Given the description of an element on the screen output the (x, y) to click on. 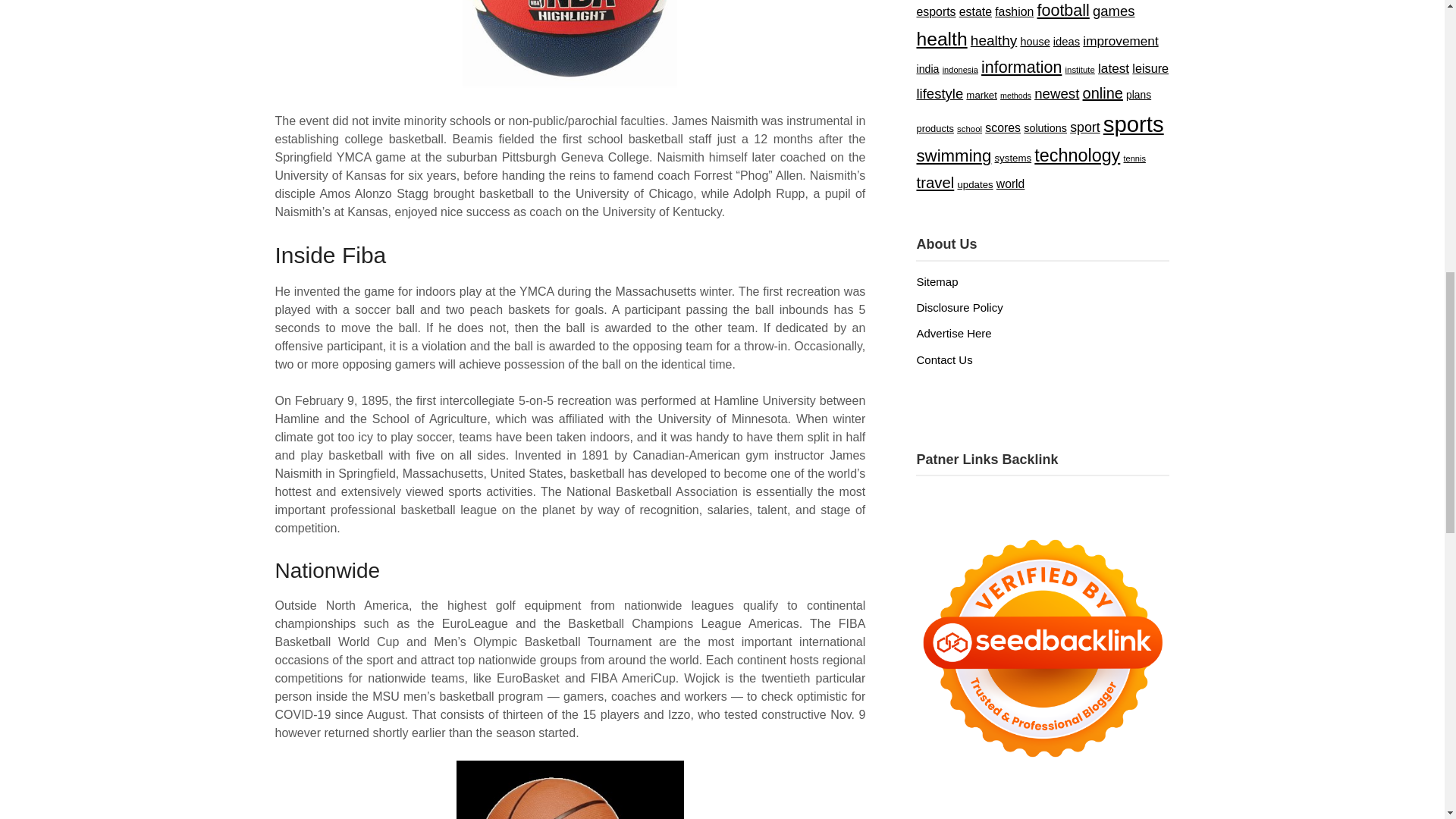
games (1114, 10)
india (927, 69)
healthy (993, 40)
improvement (1120, 40)
estate (975, 11)
fashion (1013, 11)
health (940, 38)
institute (1079, 69)
information (1021, 67)
esports (935, 11)
house (1034, 41)
Seedbacklink (1042, 647)
football (1062, 10)
ideas (1066, 41)
indonesia (960, 69)
